Given the description of an element on the screen output the (x, y) to click on. 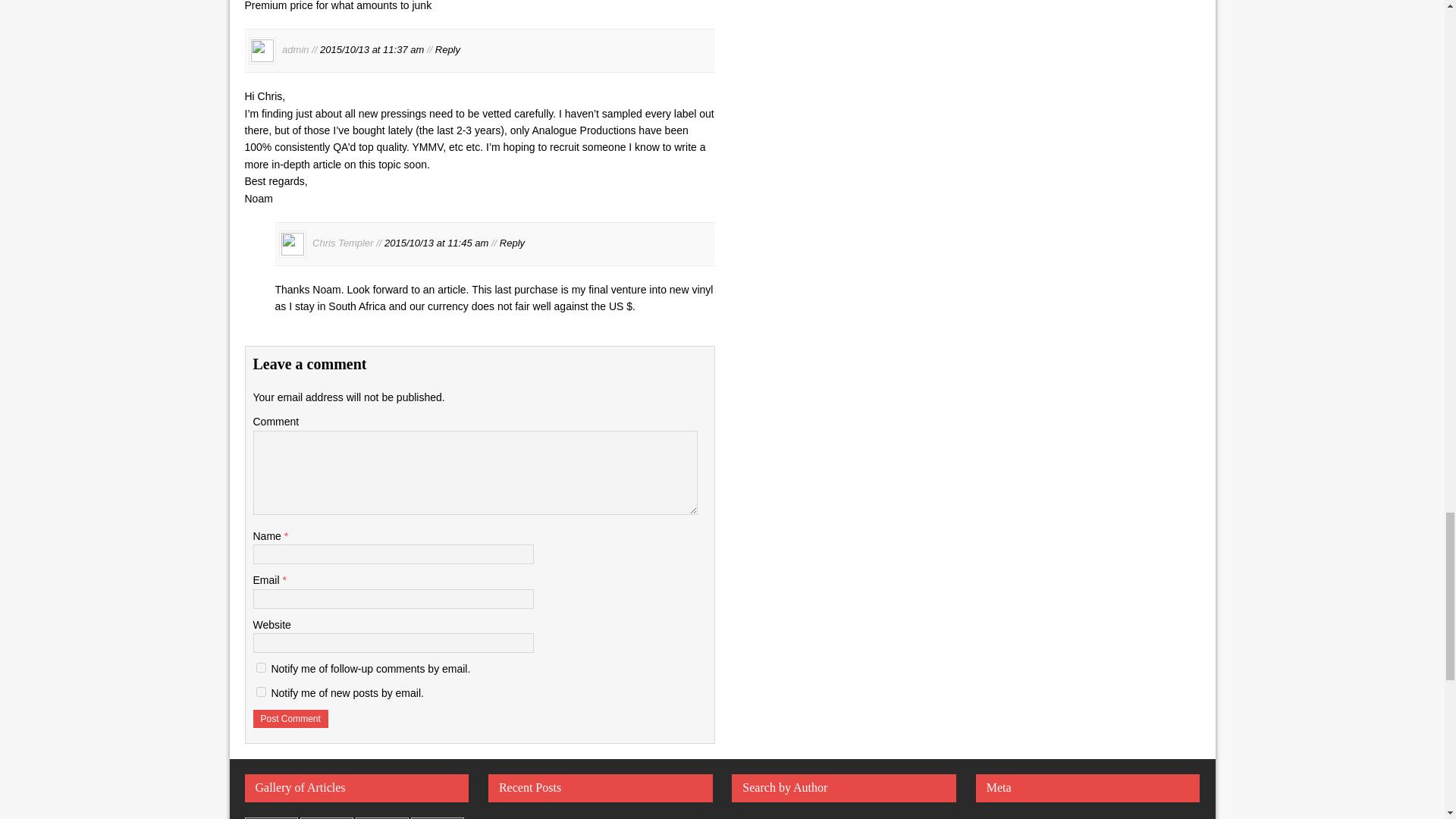
subscribe (261, 667)
subscribe (261, 691)
Post Comment (291, 719)
